Given the description of an element on the screen output the (x, y) to click on. 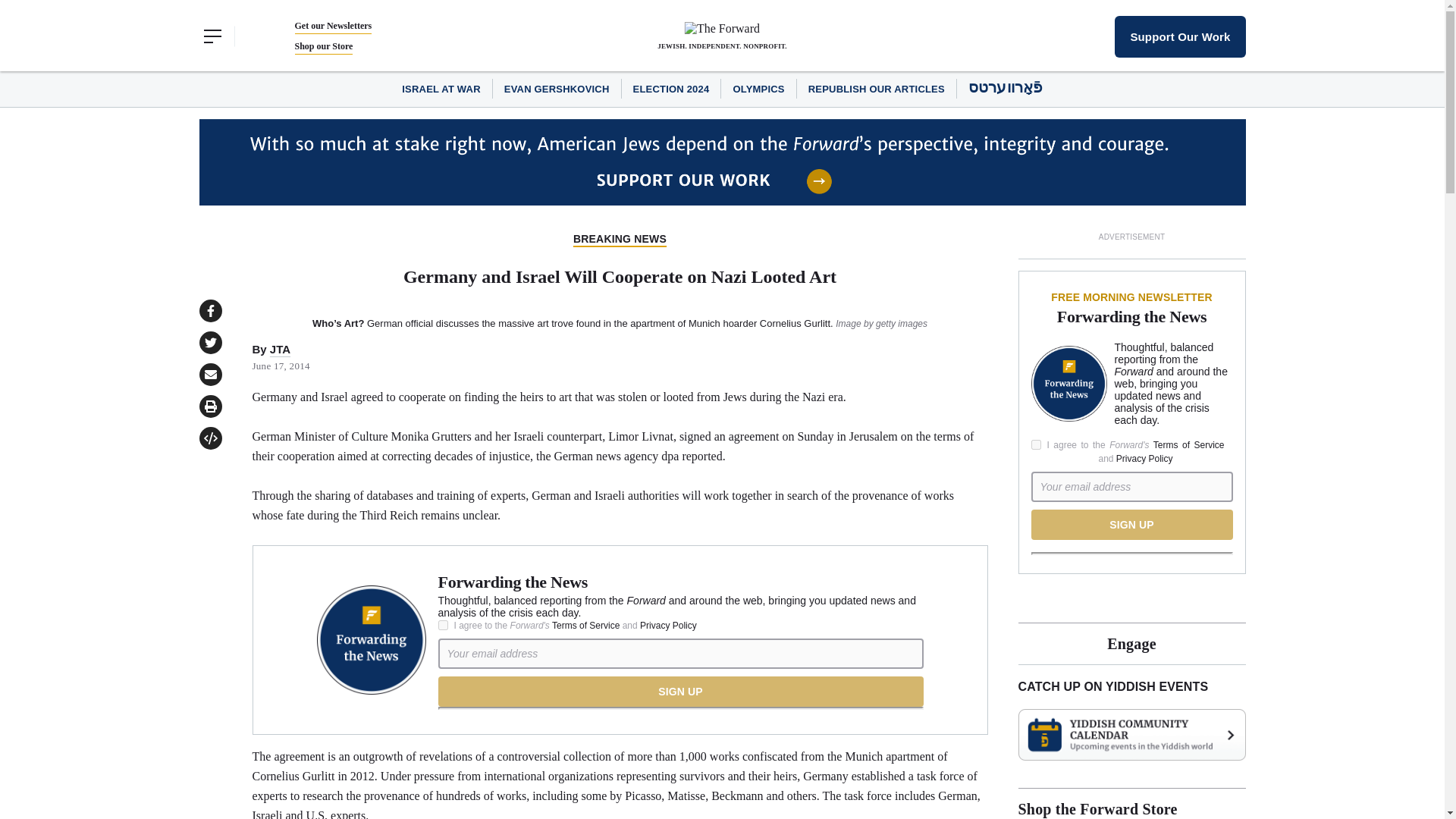
Sign Up (1131, 524)
EVAN GERSHKOVICH (556, 89)
Get our Newsletters (332, 26)
Click to open publish popup (209, 437)
ISRAEL AT WAR (440, 89)
ELECTION 2024 (671, 89)
Support Our Work (1179, 35)
Shop our Store (323, 46)
Yes (1035, 444)
Sign Up (680, 691)
Yes (443, 624)
